Given the description of an element on the screen output the (x, y) to click on. 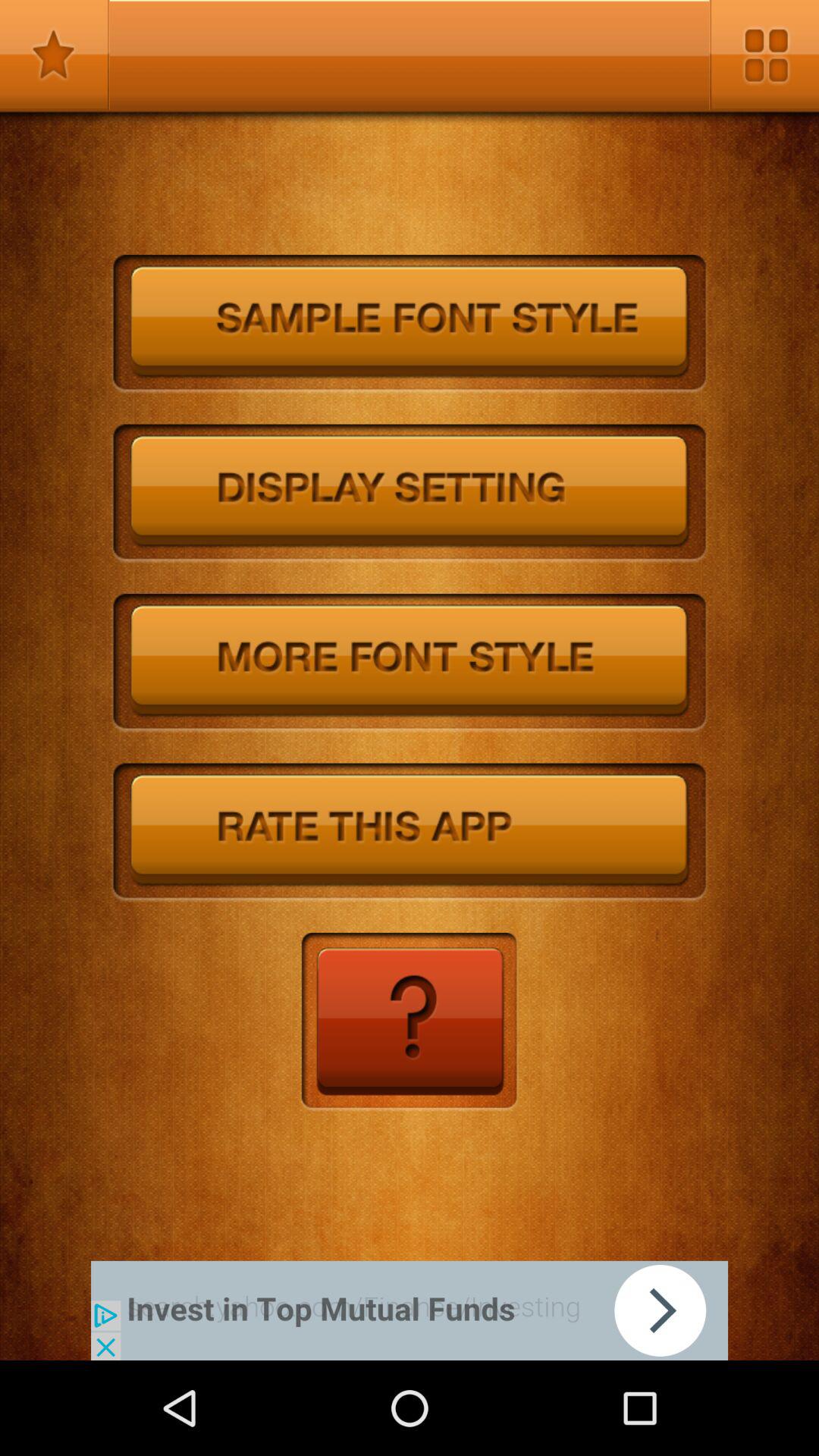
share the article (409, 1310)
